Given the description of an element on the screen output the (x, y) to click on. 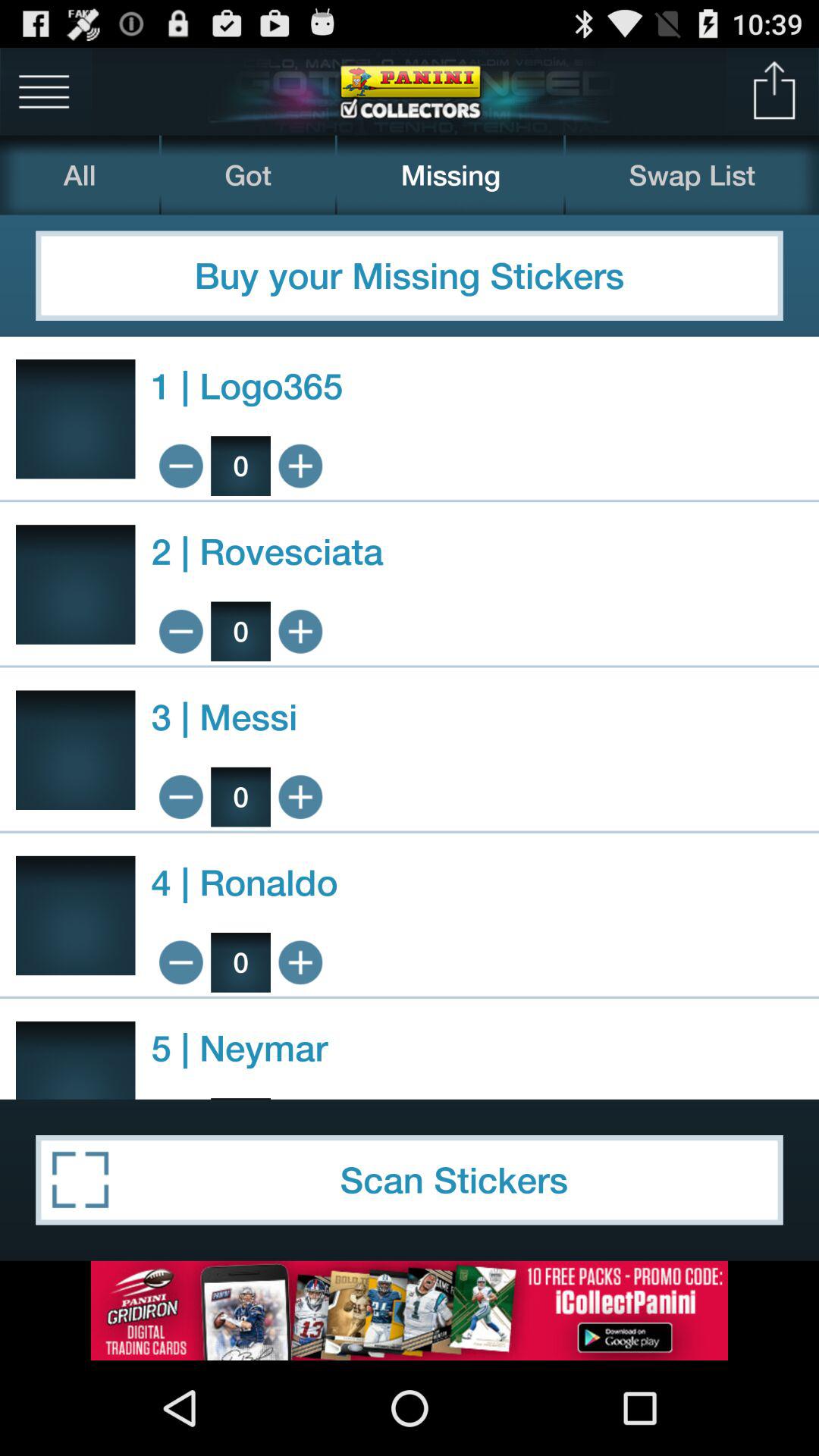
buy 1 neymar (300, 1098)
